Given the description of an element on the screen output the (x, y) to click on. 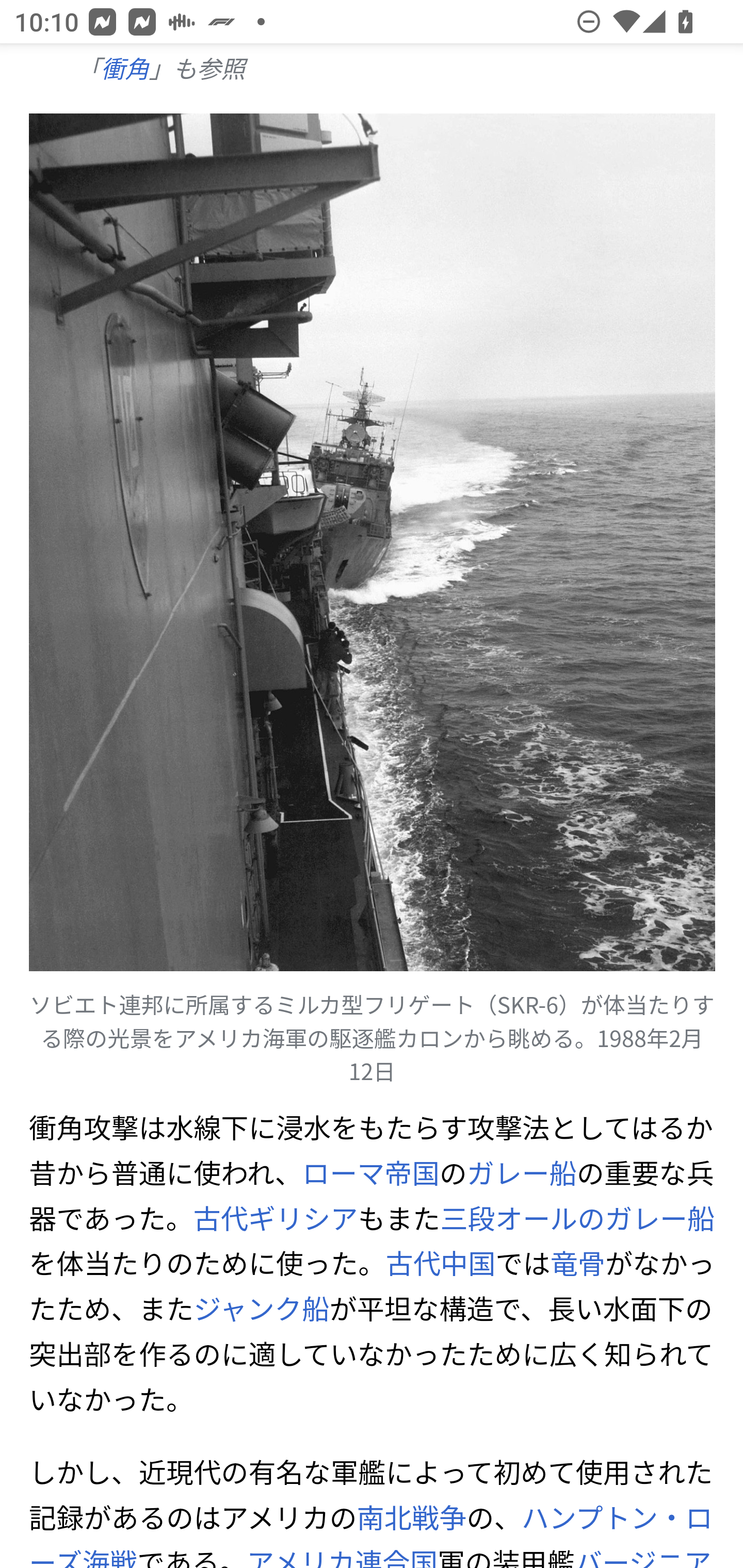
衝角 (123, 68)
1280px-USS_Caron_%28DD-970%29_collision (372, 542)
ローマ帝国 (370, 1173)
ガレー船 (521, 1173)
古代ギリシア (274, 1218)
三段オールのガレー船 (577, 1218)
古代中国 (440, 1264)
竜骨 (578, 1264)
ジャンク船 (261, 1308)
ハンプトン・ローズ海戦 (370, 1531)
南北戦争 (411, 1516)
